Given the description of an element on the screen output the (x, y) to click on. 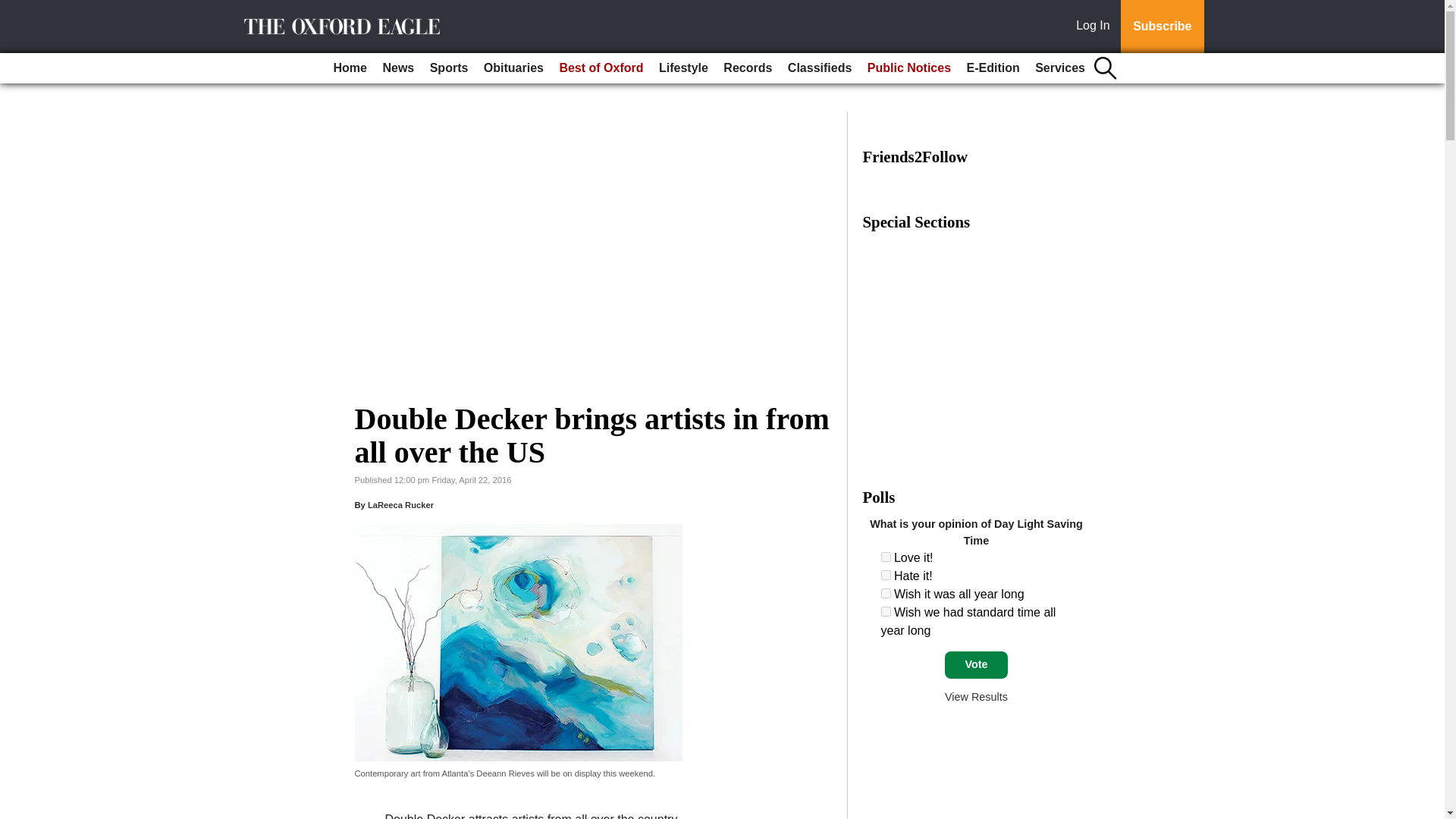
News (397, 68)
Obituaries (513, 68)
View Results (975, 696)
View Results Of This Poll (975, 696)
163 (885, 611)
Lifestyle (683, 68)
Records (747, 68)
E-Edition (992, 68)
Public Notices (908, 68)
Classifieds (819, 68)
Home (349, 68)
Log In (1095, 26)
   Vote    (975, 664)
Services (1059, 68)
161 (885, 574)
